Given the description of an element on the screen output the (x, y) to click on. 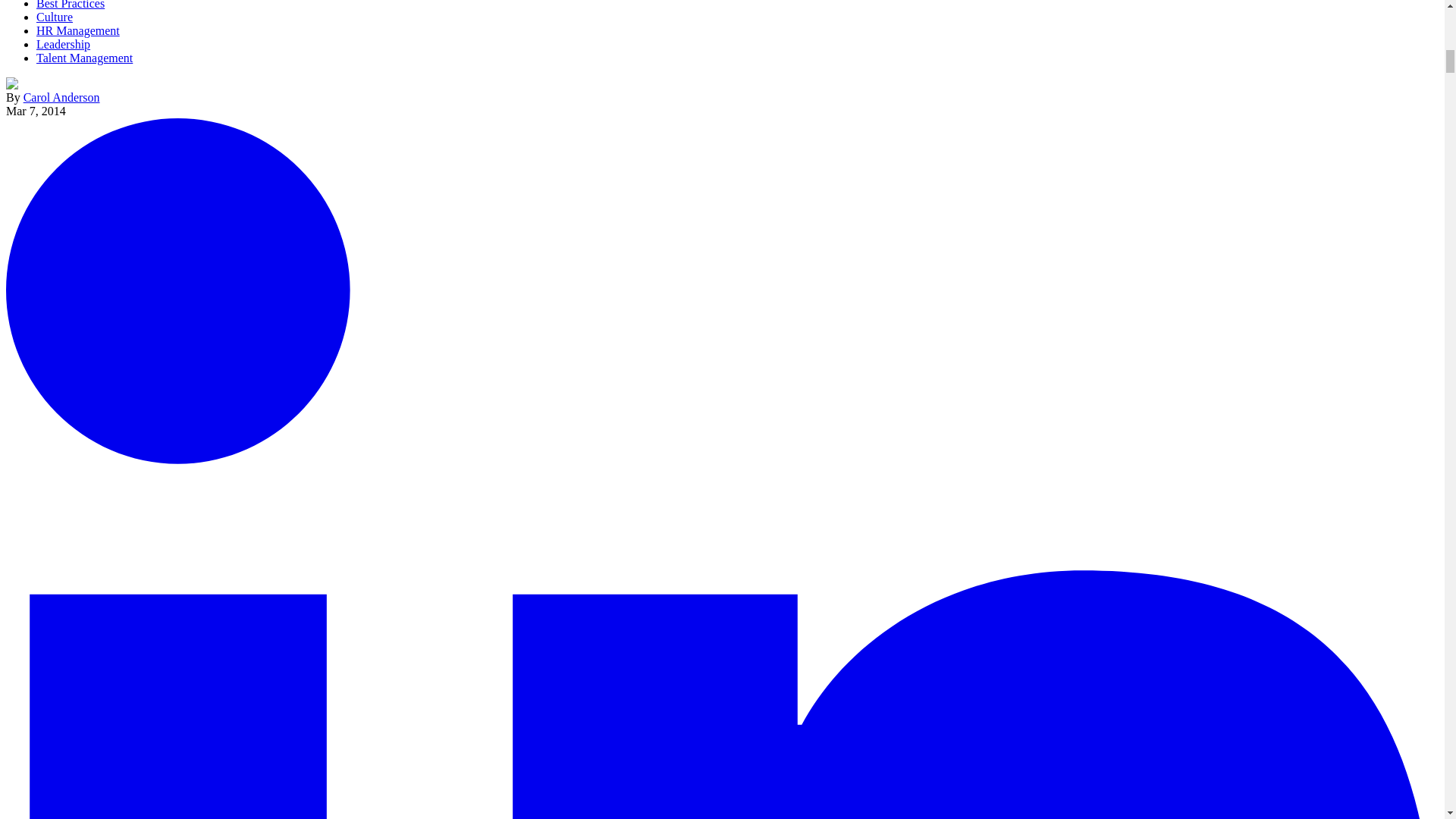
Best Practices (70, 4)
Culture (54, 16)
HR Management (77, 30)
Carol Anderson (61, 97)
Leadership (63, 43)
Talent Management (84, 57)
